Given the description of an element on the screen output the (x, y) to click on. 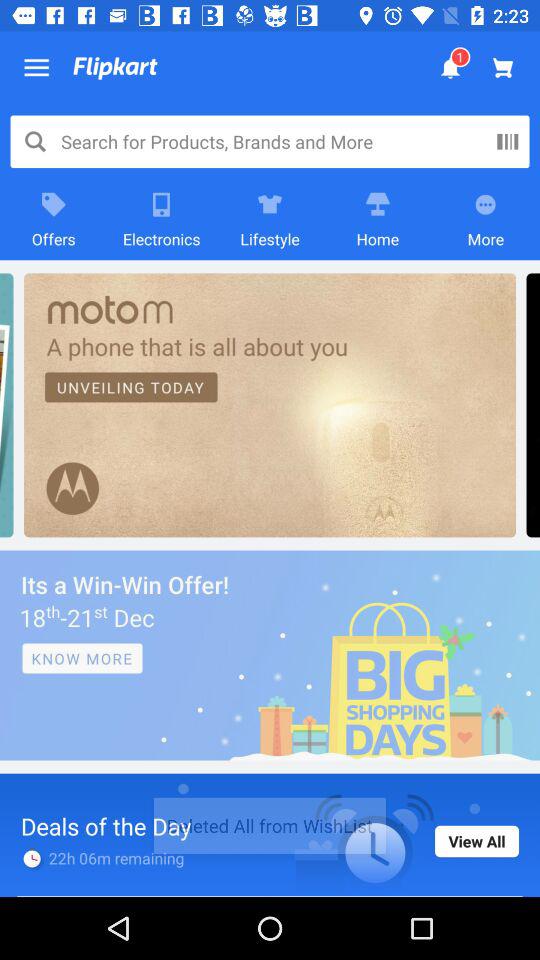
tap the item above the search for products item (115, 68)
